Given the description of an element on the screen output the (x, y) to click on. 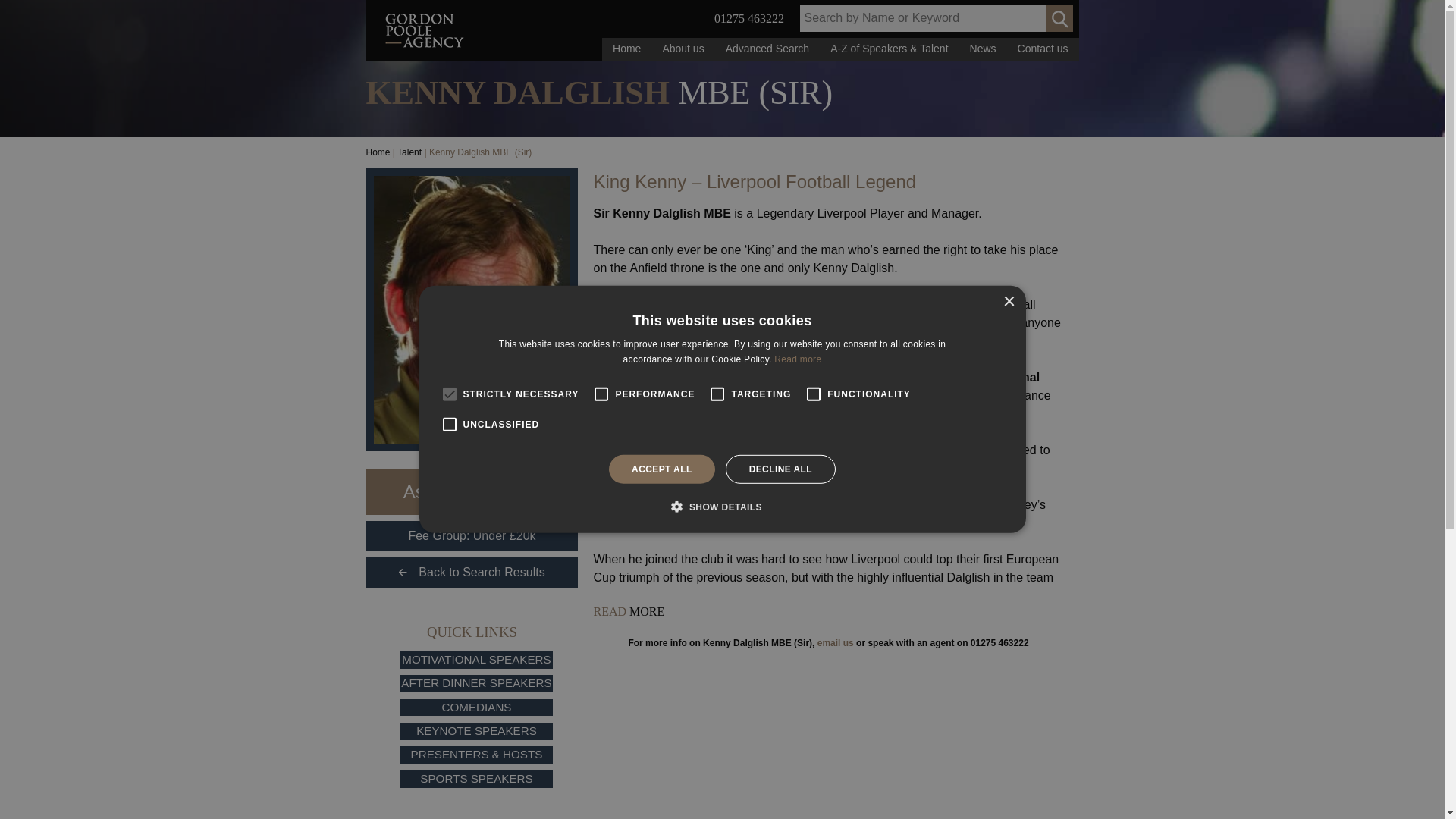
Search by Name or Keyword (935, 17)
View our Agency Contact Details (1042, 48)
Search for a Speaker for your Live or Virtual Event (767, 48)
Read about our Speaker Bureau and Talent Agency (682, 48)
Search (1058, 17)
Search (1058, 17)
View All Speakers and Talent (888, 48)
Home (626, 48)
Search (1058, 17)
01275 463222 (748, 18)
UK Speaker Bureau News (983, 48)
